Given the description of an element on the screen output the (x, y) to click on. 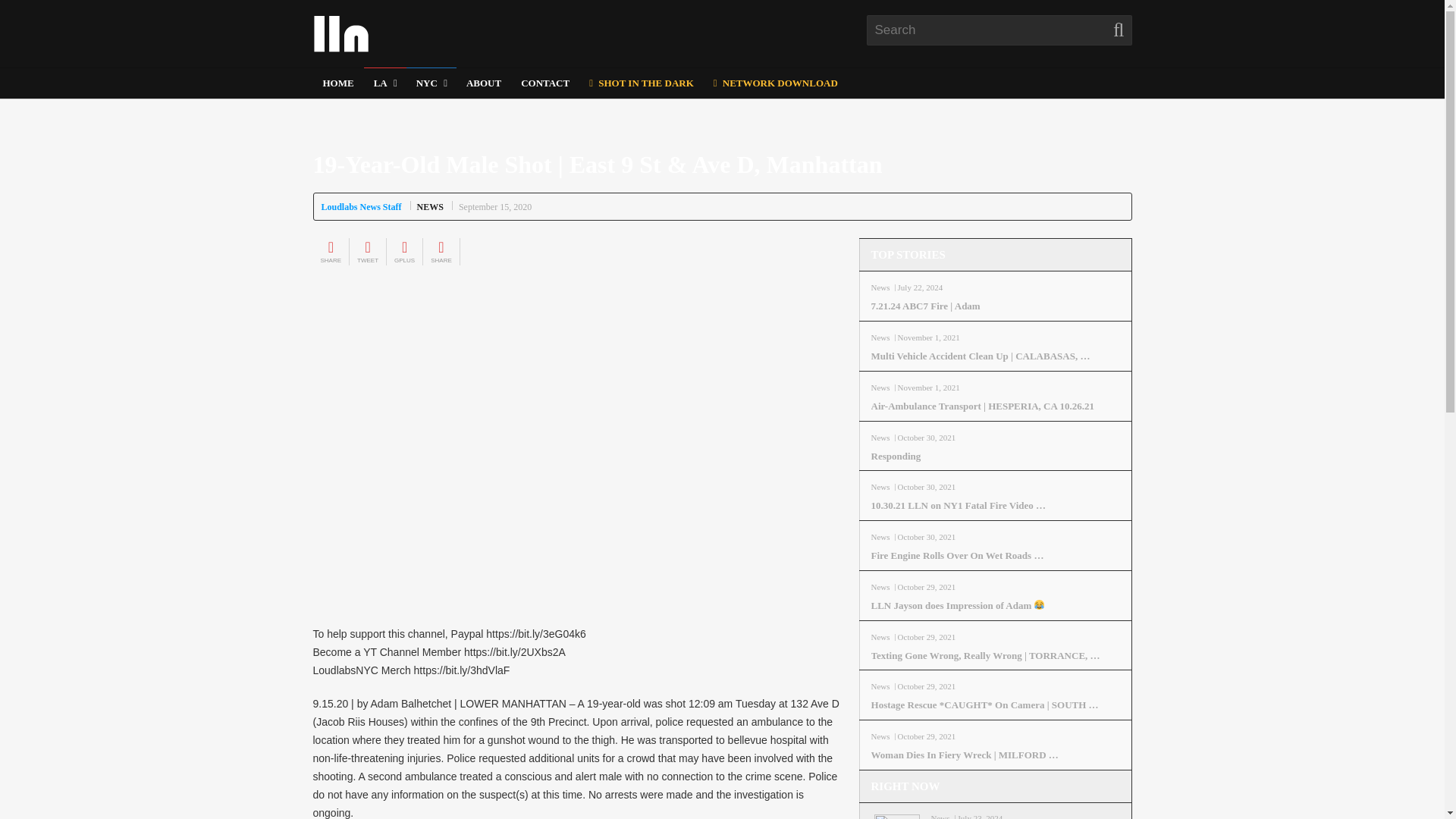
GPLUS (404, 252)
10.30.21 LLN on NY1 Fatal Fire Video by Gabriel (994, 505)
HOME (337, 82)
SHARE (440, 252)
Loudlabs News Staff (361, 206)
ABOUT (484, 82)
SHARE (330, 252)
SHOT IN THE DARK (640, 80)
TWEET (367, 252)
CONTACT (545, 82)
View all posts in News (430, 206)
NYC (431, 82)
Posts by Loudlabs News Staff (361, 206)
NEWS (430, 206)
NETWORK DOWNLOAD (775, 82)
